Given the description of an element on the screen output the (x, y) to click on. 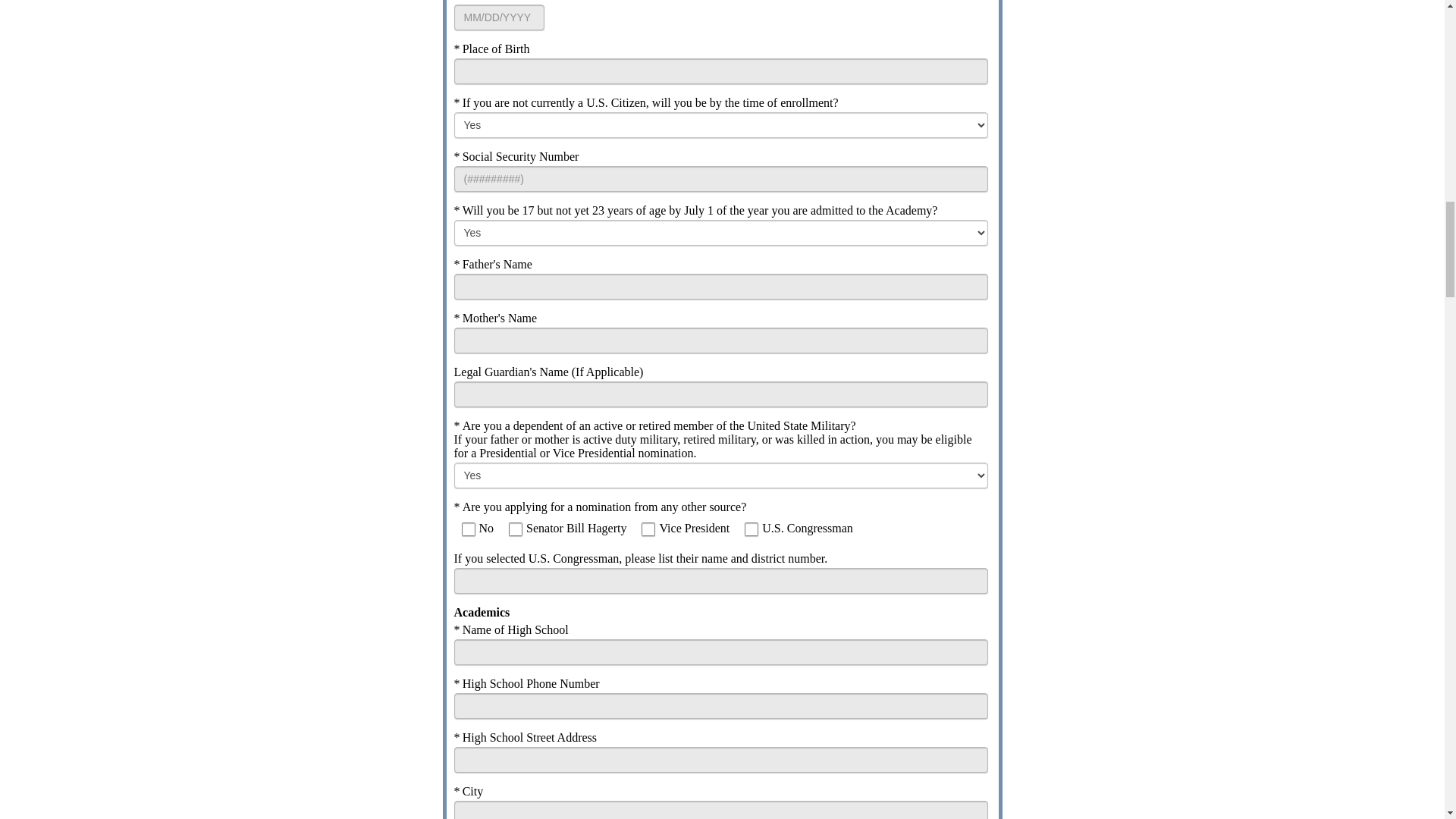
Enter required Father's Name (719, 286)
Enter required Mother's Name (719, 339)
Enter required Place of Birth (719, 71)
Enter required Date of Birth (497, 17)
